Given the description of an element on the screen output the (x, y) to click on. 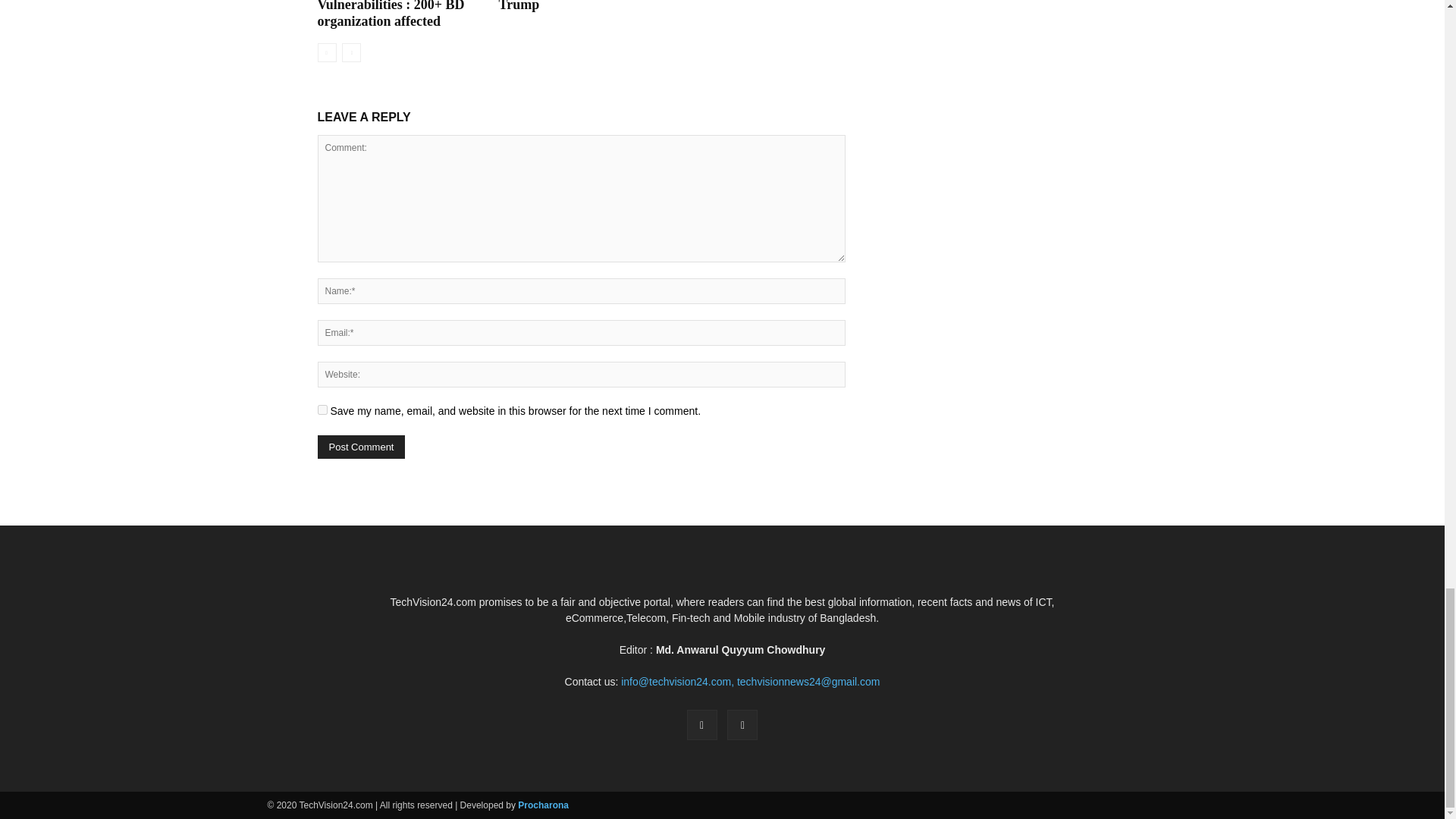
Post Comment (360, 446)
yes (321, 409)
